Given the description of an element on the screen output the (x, y) to click on. 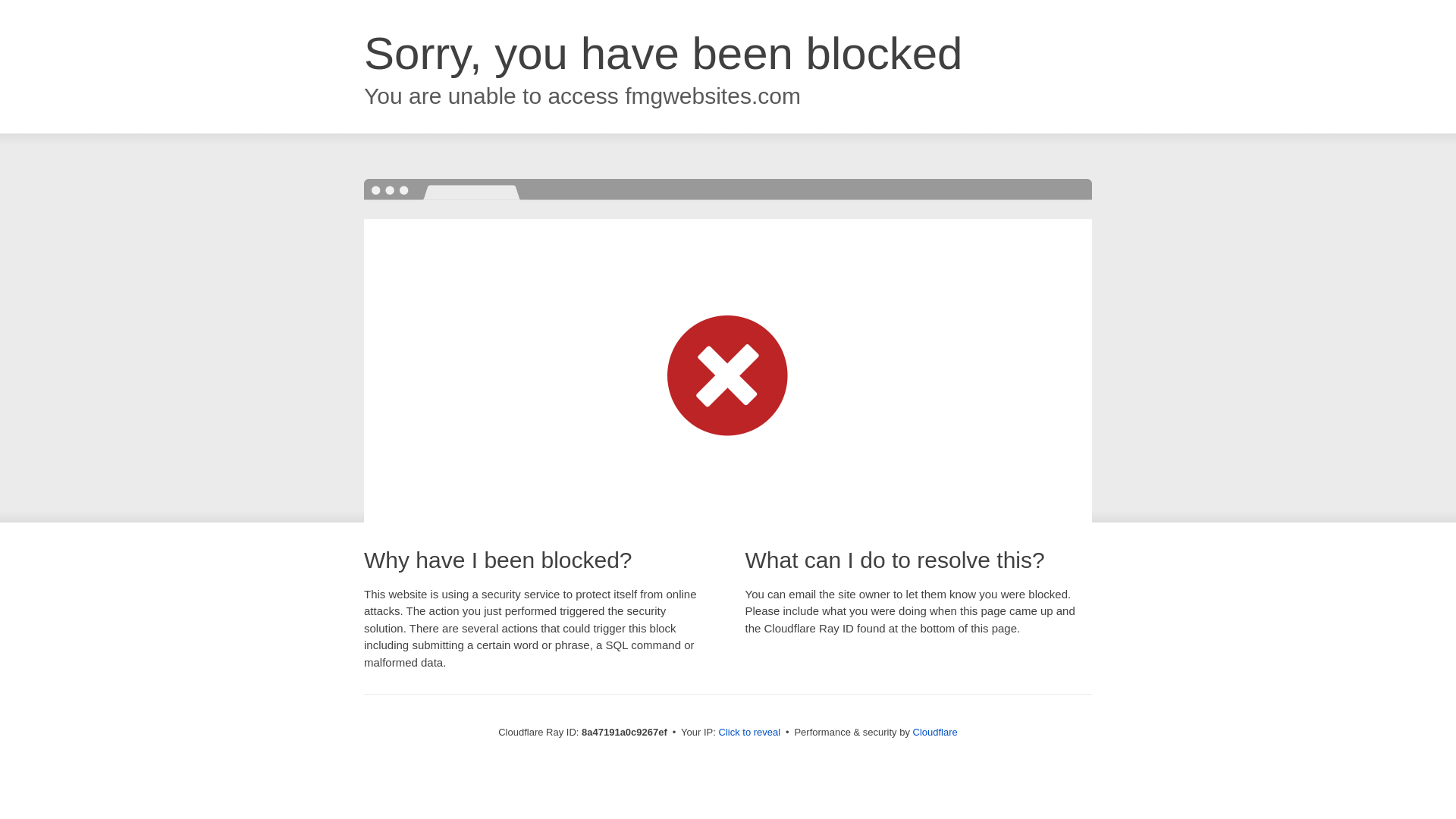
Cloudflare (935, 731)
Click to reveal (749, 732)
